Given the description of an element on the screen output the (x, y) to click on. 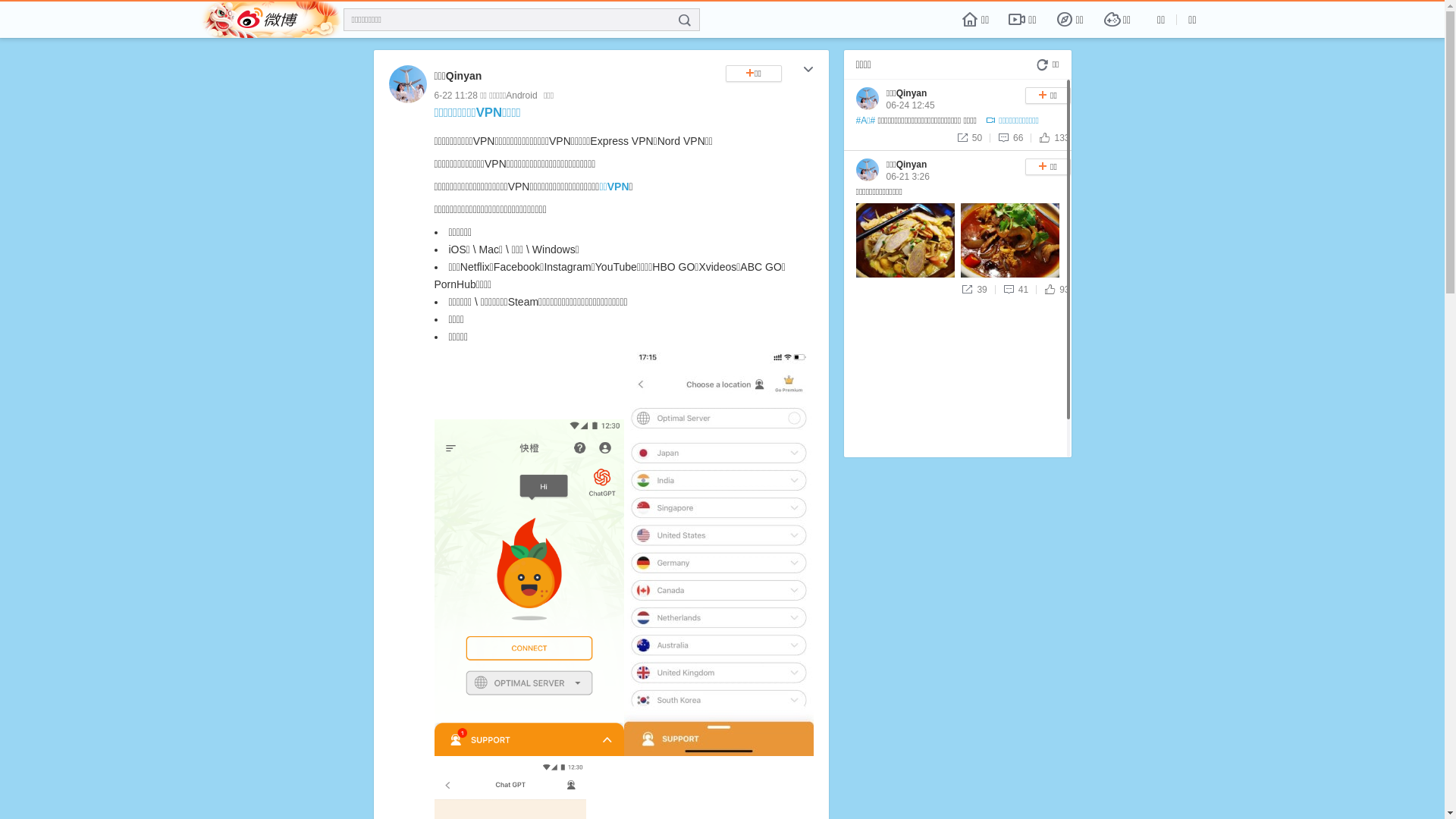
6-22 11:28 Element type: text (454, 95)
06-24 12:45 Element type: text (909, 105)
f Element type: text (684, 20)
c Element type: text (808, 70)
06-21 3:26 Element type: text (906, 176)
